Given the description of an element on the screen output the (x, y) to click on. 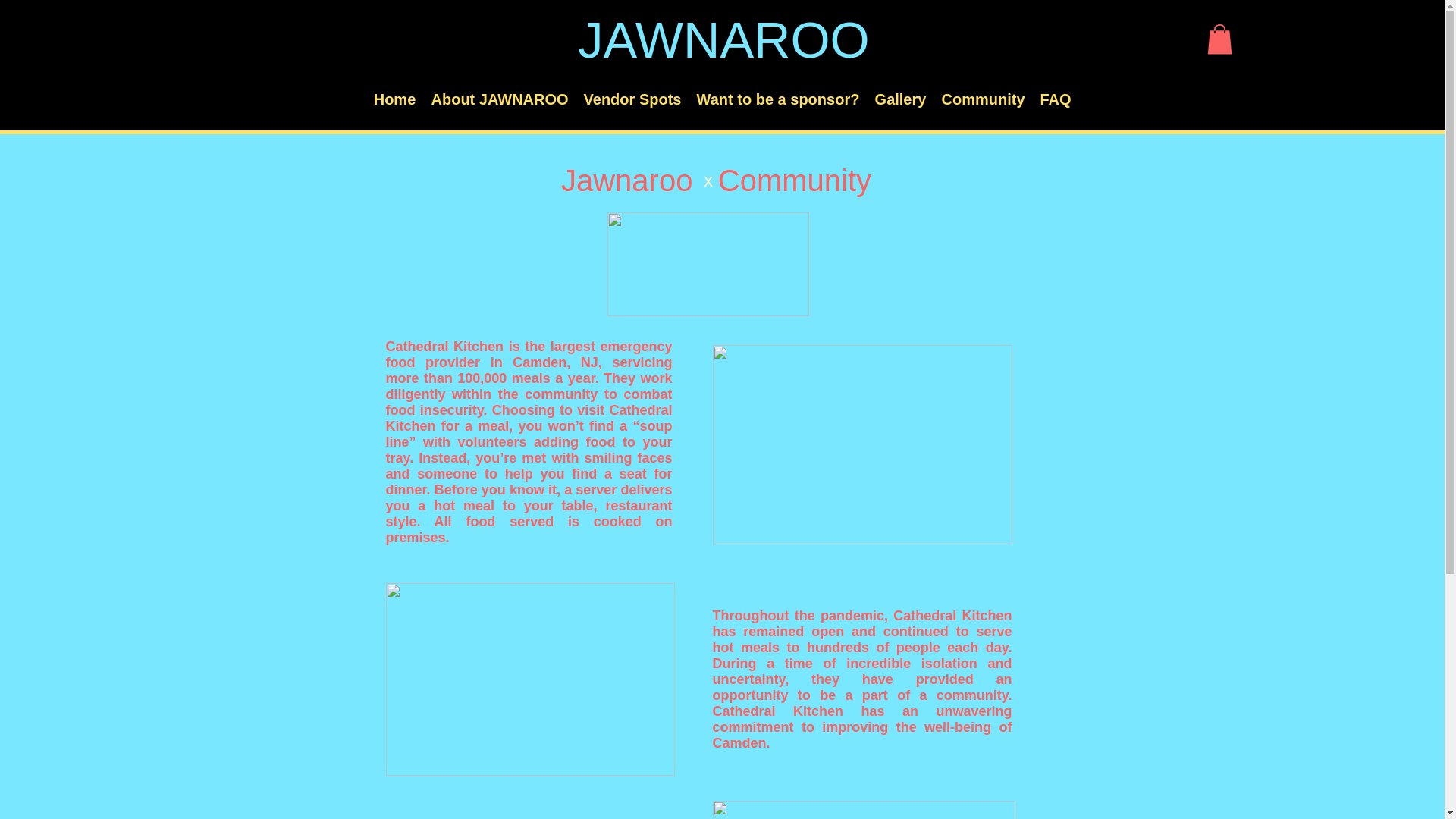
CK-Dining-Room-Reopening-1.jpg (862, 444)
Home (394, 98)
Vendor Spots (632, 98)
About JAWNAROO (499, 98)
c-084.jpg (529, 679)
JAWNAROO (723, 39)
Want to be a sponsor? (777, 98)
CK-Kitchen-logo.jpg (707, 264)
Gallery (900, 98)
Community (983, 98)
